Given the description of an element on the screen output the (x, y) to click on. 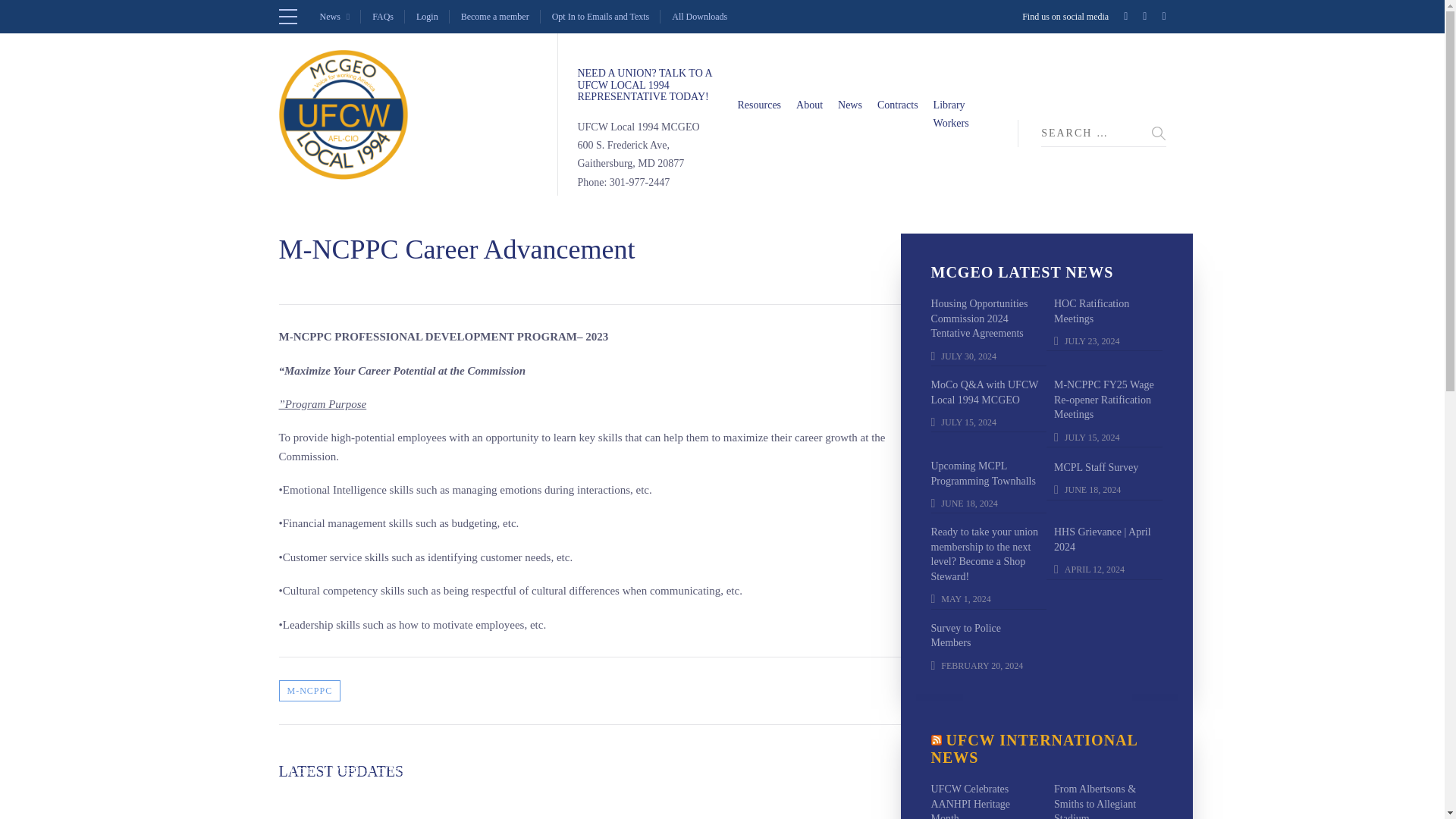
News (335, 16)
Search (1158, 133)
Login (427, 16)
Search (1158, 133)
FAQs (382, 16)
Opt In to Emails and Texts (600, 16)
Become a member (495, 16)
All Downloads (698, 16)
